Given the description of an element on the screen output the (x, y) to click on. 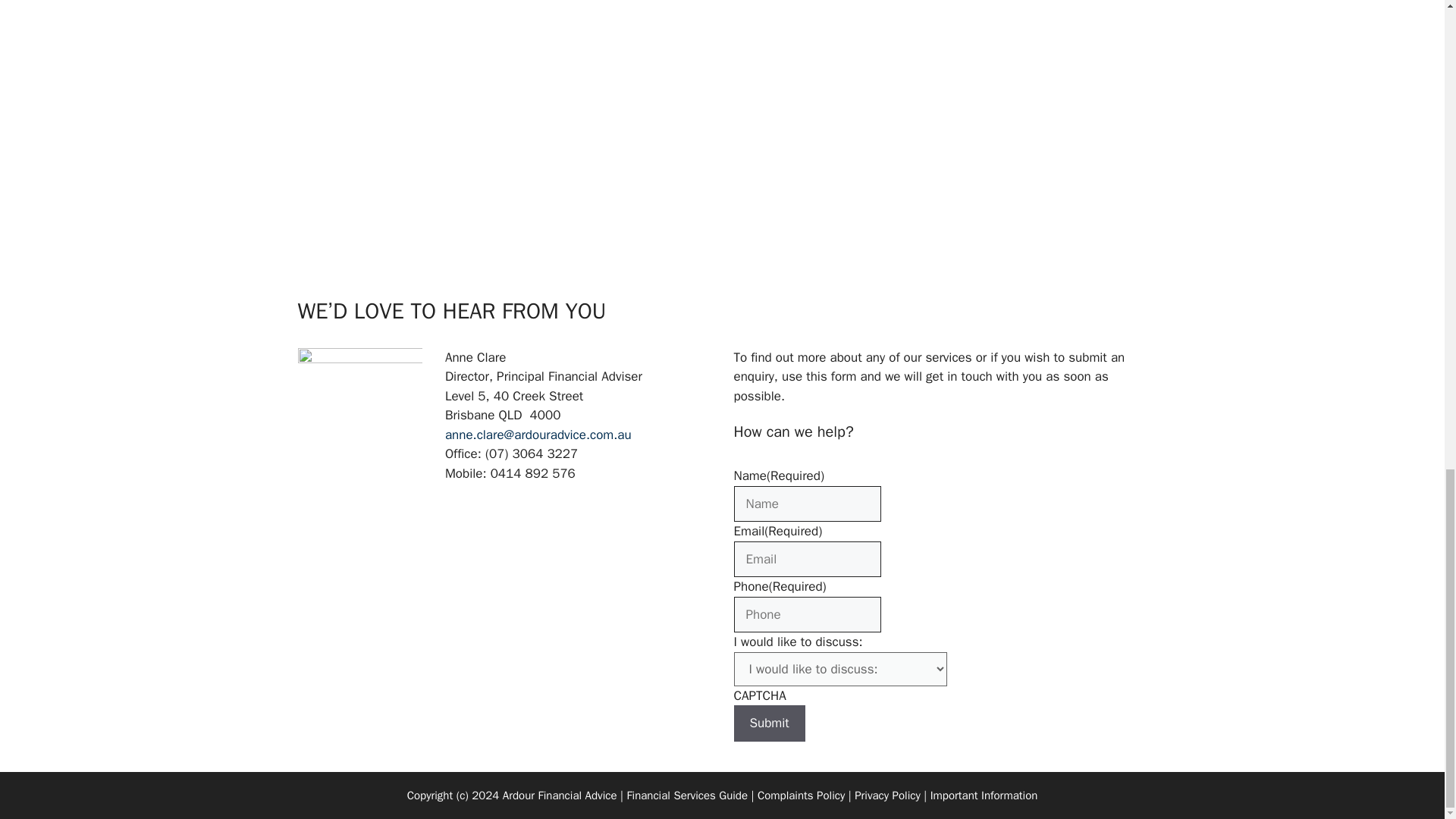
Privacy Policy (887, 795)
Important Information (984, 795)
Financial Services Guide (687, 795)
Scroll back to top (1406, 429)
Complaints Policy (800, 795)
Submit (769, 723)
Submit (769, 723)
